Given the description of an element on the screen output the (x, y) to click on. 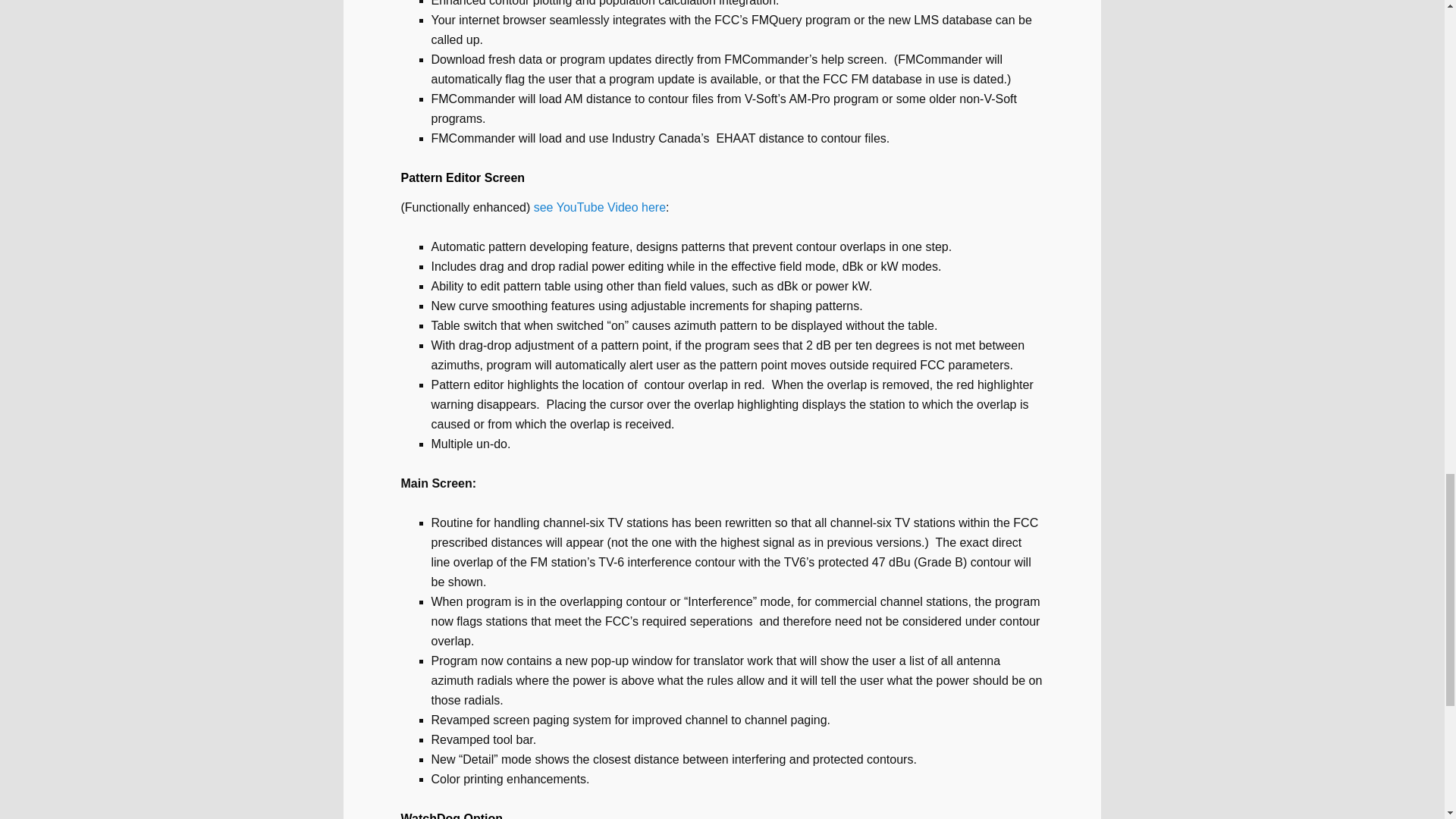
FMCommander Pattern Editor Video (599, 206)
